Given the description of an element on the screen output the (x, y) to click on. 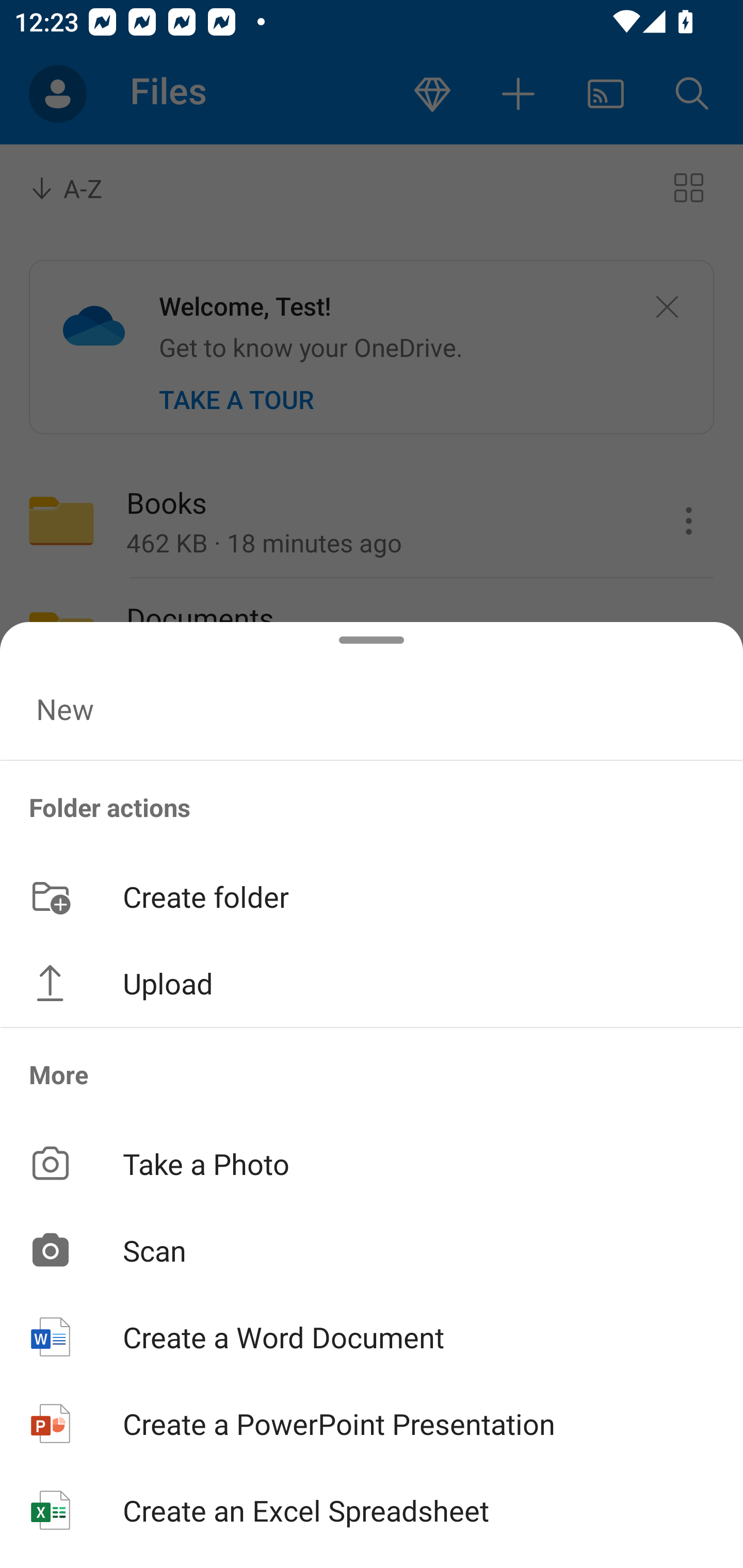
Create folder button Create folder (371, 895)
Upload button Upload (371, 983)
Take a Photo button Take a Photo (371, 1163)
Scan button Scan (371, 1250)
